Given the description of an element on the screen output the (x, y) to click on. 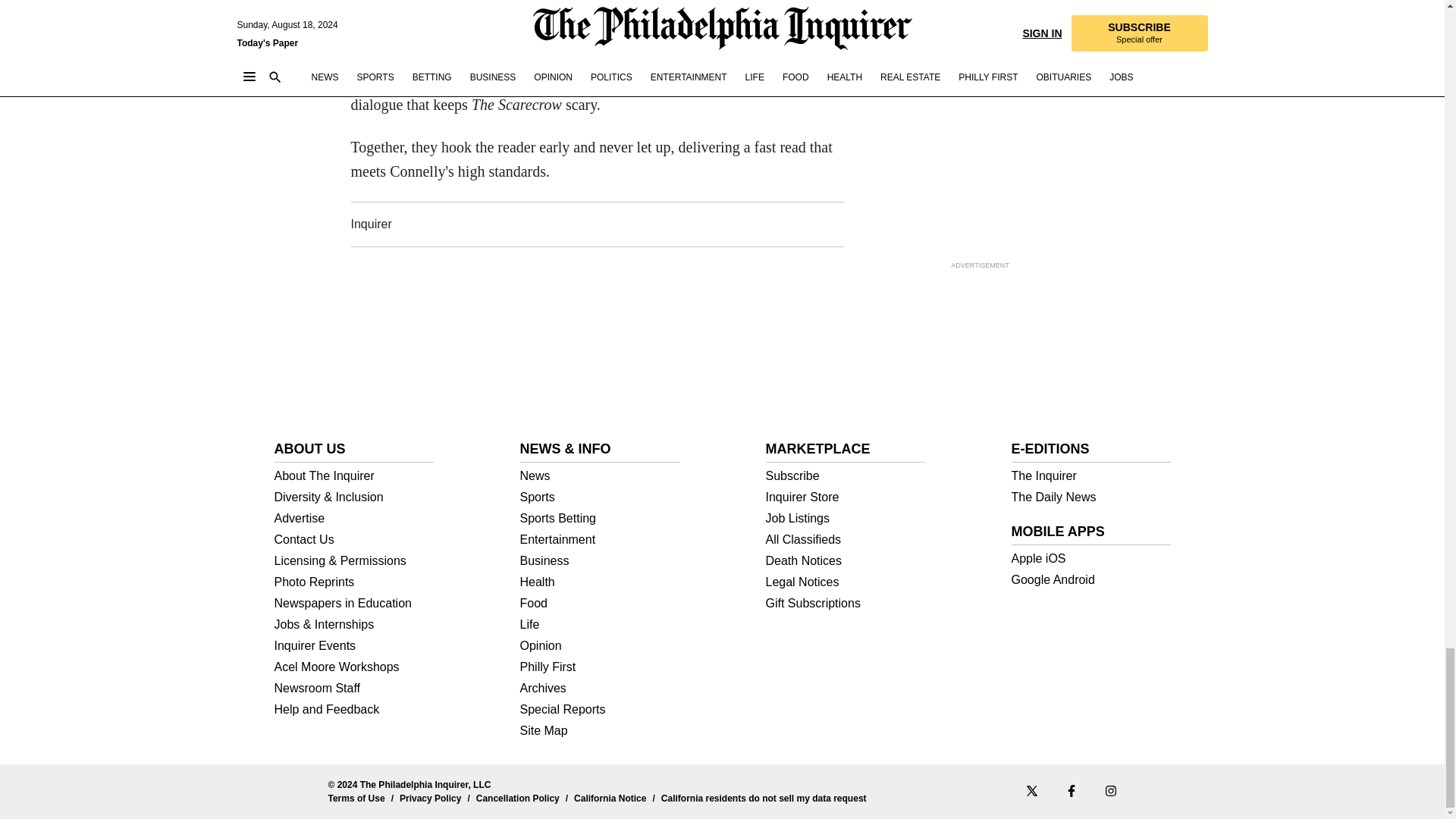
Instagram (1109, 790)
Facebook (1070, 790)
About The Inquirer (354, 476)
X (1030, 790)
Advertise (354, 518)
